Given the description of an element on the screen output the (x, y) to click on. 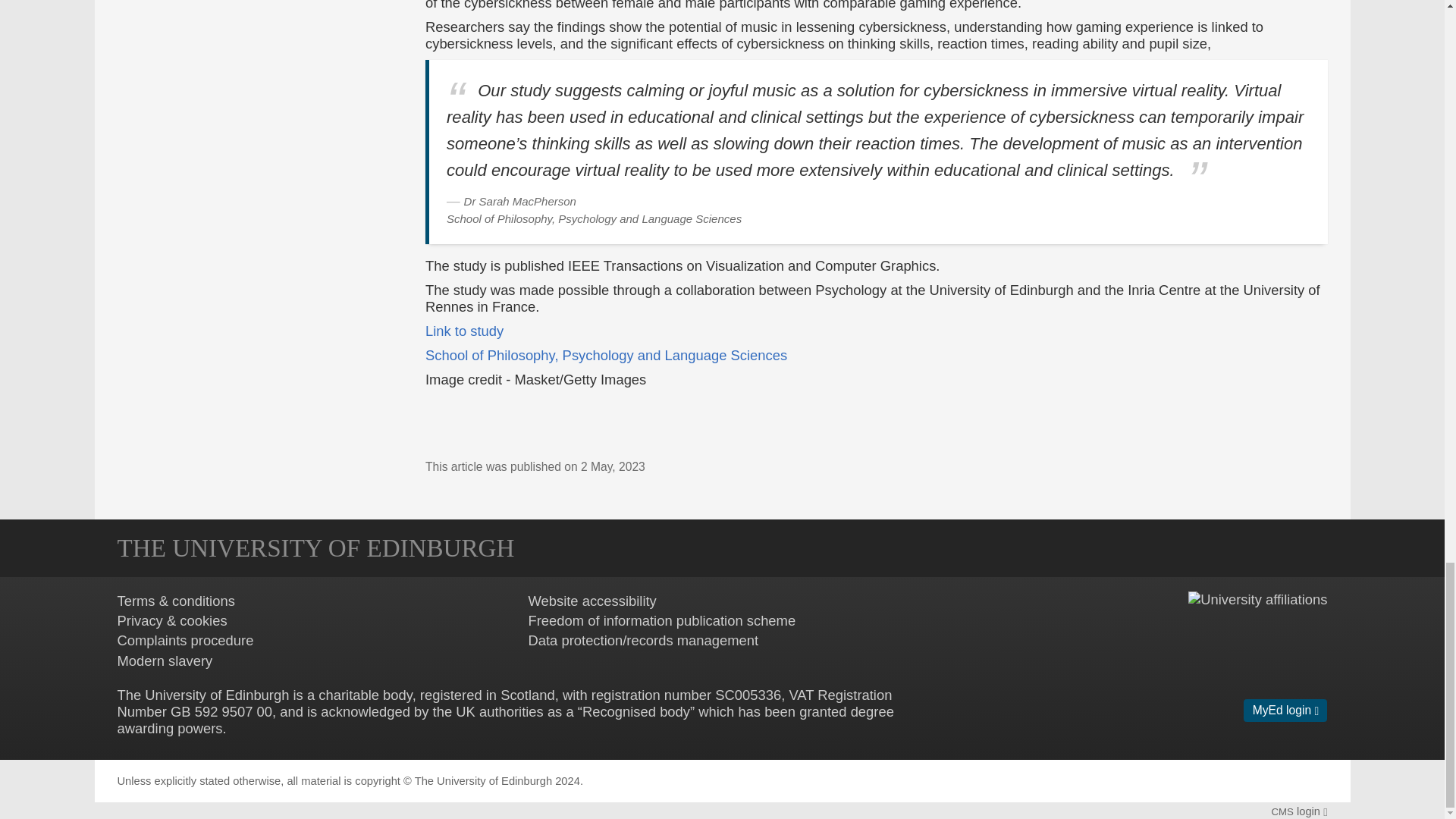
Complaints procedure (184, 640)
MyEd login (1284, 710)
Link to study (464, 330)
School of Philosophy, Psychology and Language Sciences (606, 355)
Website accessibility (591, 600)
CMS login (1298, 811)
Recognised body (636, 711)
Modern slavery (164, 660)
Freedom of information publication scheme (660, 620)
